Given the description of an element on the screen output the (x, y) to click on. 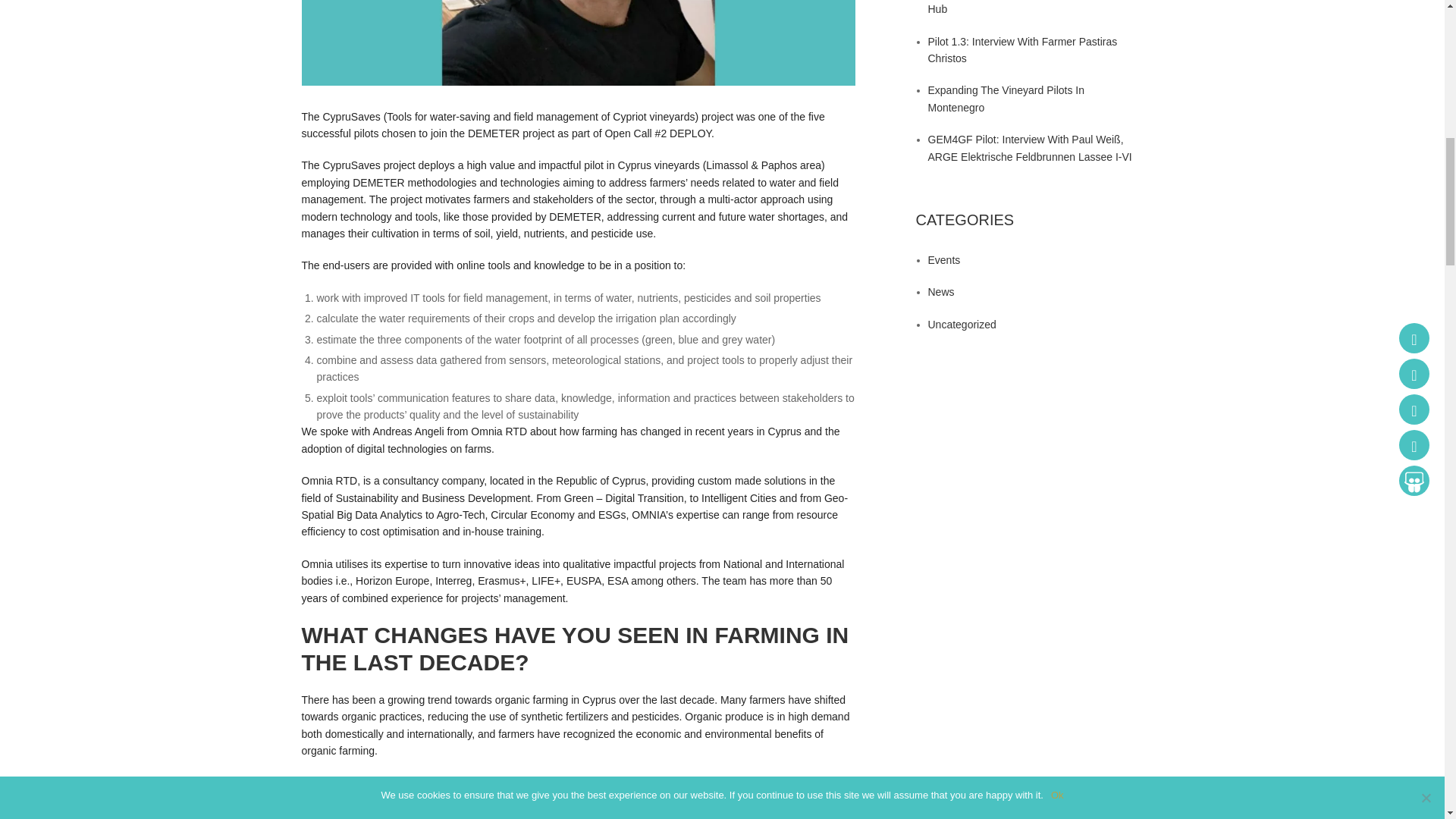
Pilot 1.3: Interview With Farmer Pastiras Christos (1023, 50)
